Given the description of an element on the screen output the (x, y) to click on. 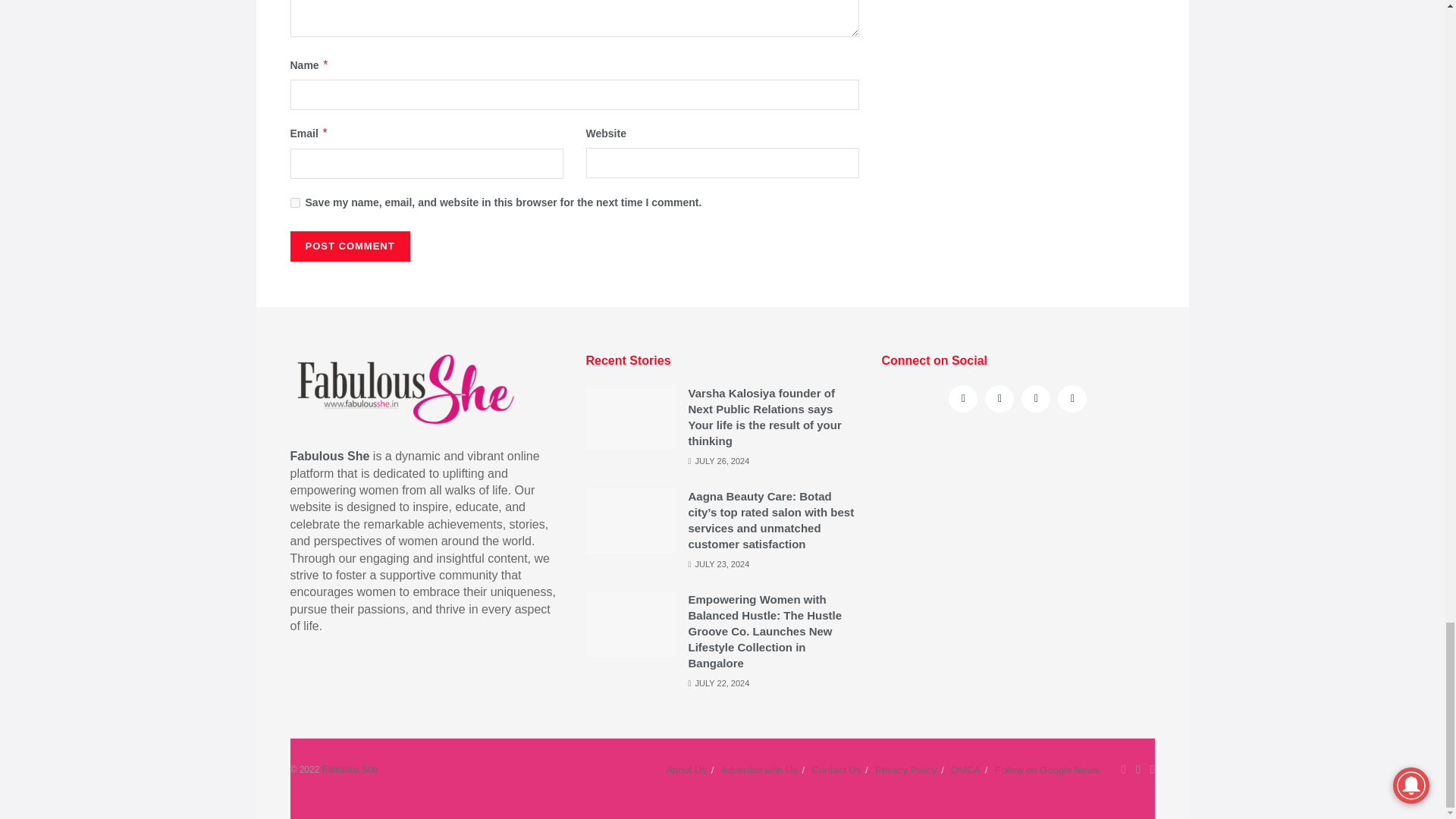
Advertisement (1017, 549)
Post Comment (349, 245)
Fabulous She (349, 769)
yes (294, 203)
